Given the description of an element on the screen output the (x, y) to click on. 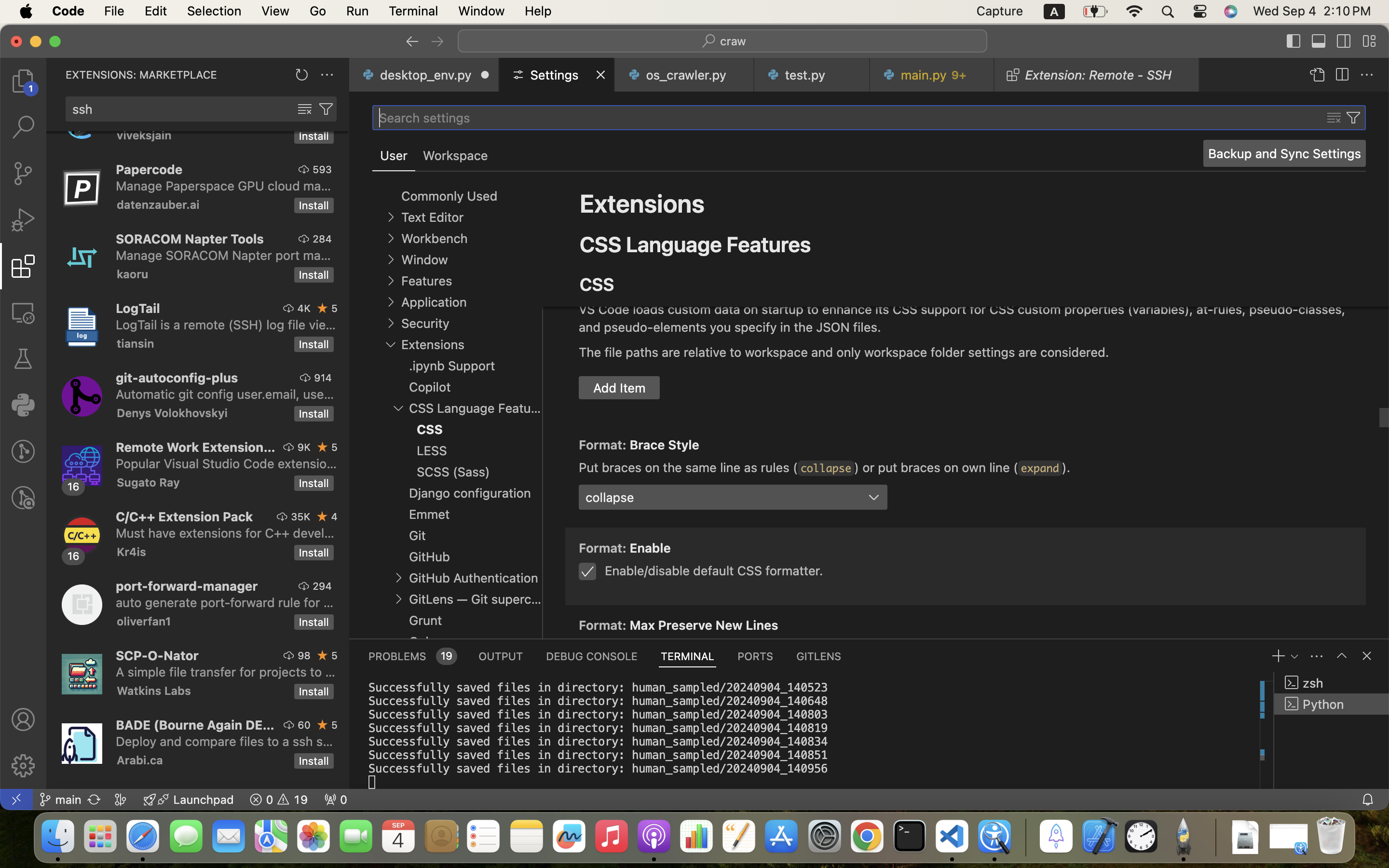
0  Element type: AXRadioButton (23, 173)
Must have extensions for C++ development in Visual Studio Code. Element type: AXStaticText (224, 532)
0 test.py   Element type: AXRadioButton (812, 74)
CSS Element type: AXStaticText (596, 284)
auto generate port-forward rule for your vscode ssh connection. Element type: AXStaticText (224, 602)
